Given the description of an element on the screen output the (x, y) to click on. 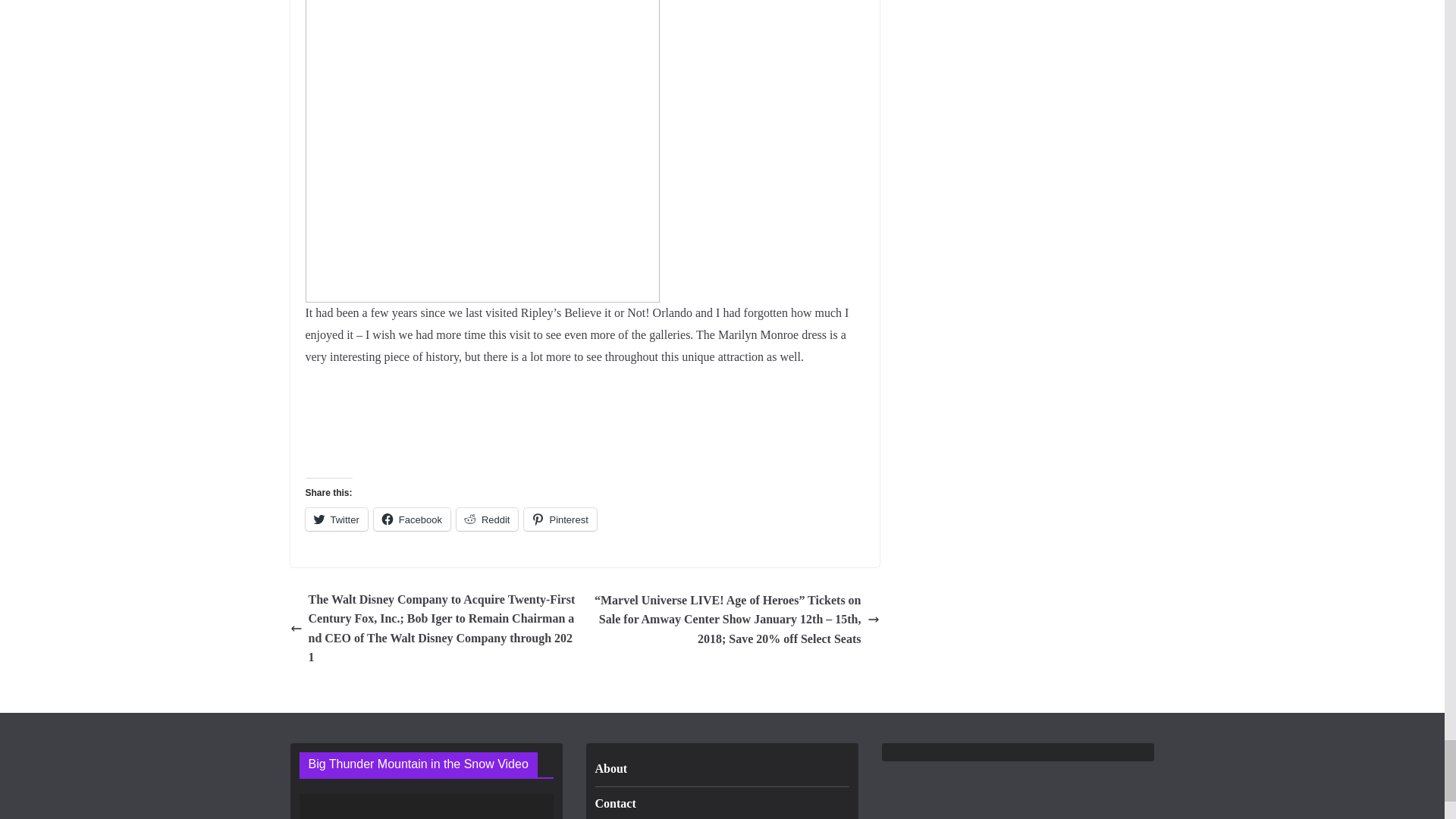
Click to share on Reddit (487, 518)
Click to share on Twitter (335, 518)
Click to share on Facebook (411, 518)
Click to share on Pinterest (559, 518)
